Given the description of an element on the screen output the (x, y) to click on. 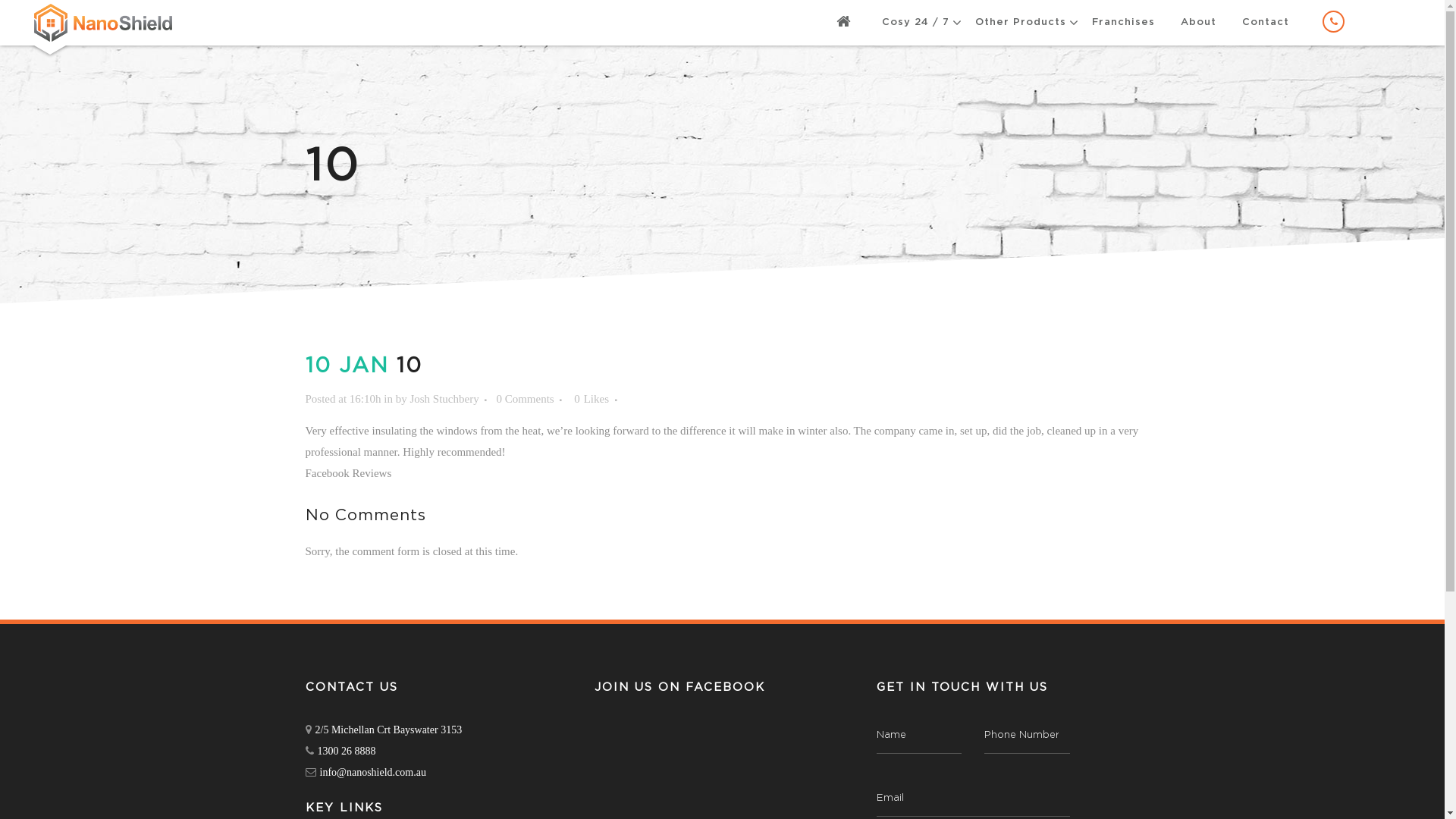
Josh Stuchbery Element type: text (443, 398)
0 Likes Element type: text (591, 398)
1300 26 8888 Element type: text (339, 750)
Cosy 24 / 7 Element type: text (915, 22)
Other Products Element type: text (1020, 22)
0 Comments Element type: text (524, 398)
2/5 Michellan Crt Bayswater 3153 Element type: text (382, 729)
Franchises Element type: text (1123, 22)
Contact Element type: text (1265, 22)
info@nanoshield.com.au Element type: text (364, 772)
About Element type: text (1198, 22)
